Given the description of an element on the screen output the (x, y) to click on. 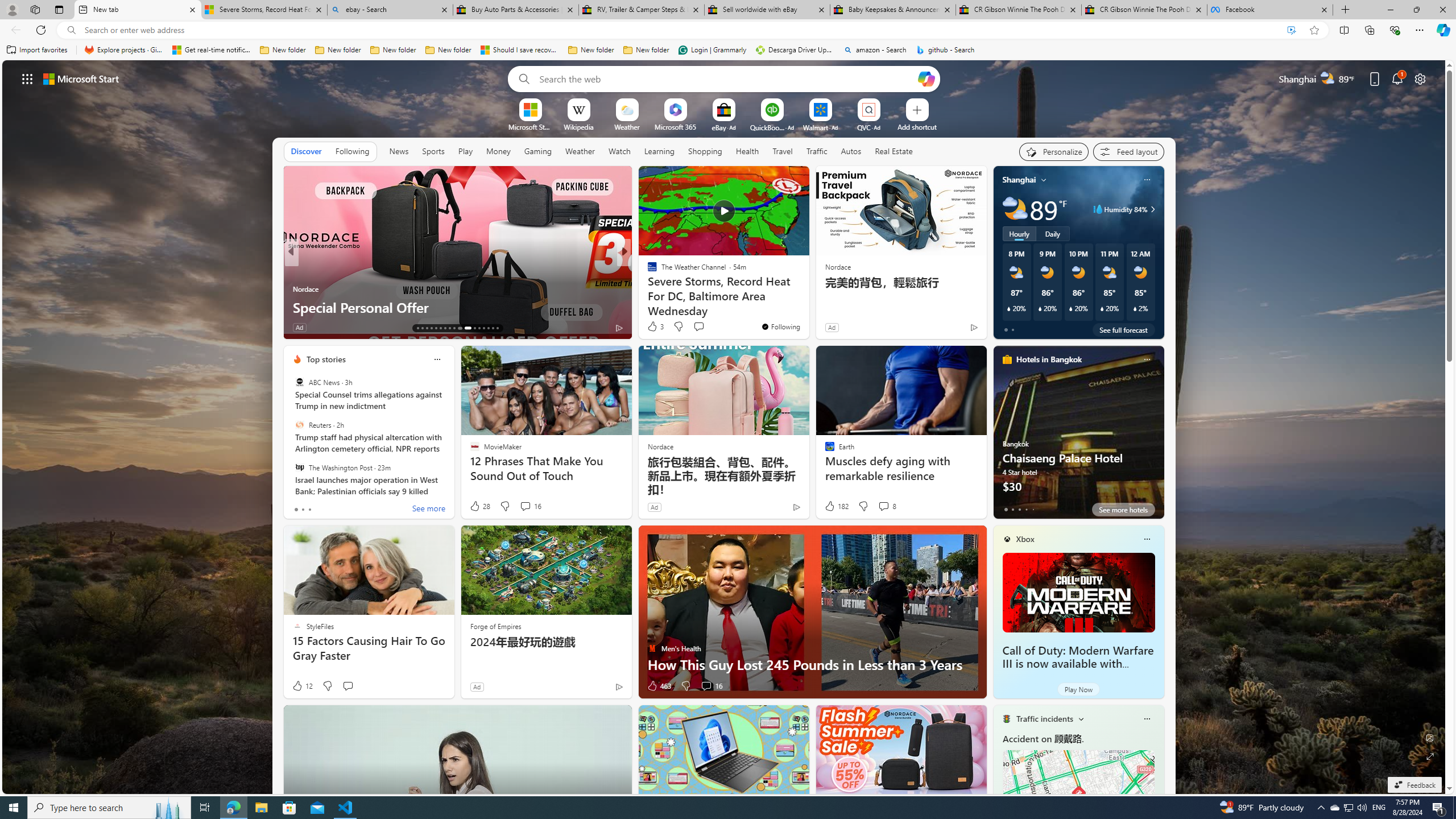
Nordace (659, 446)
RV, Trailer & Camper Steps & Ladders for sale | eBay (641, 9)
Xbox (1025, 538)
See full forecast (1123, 329)
More Options (886, 101)
App launcher (27, 78)
463 Like (658, 685)
Partly cloudy (1014, 208)
Money (498, 151)
Special Personal Offer (457, 307)
Autos (851, 151)
ebay - Search (389, 9)
tab-0 (1005, 509)
